Given the description of an element on the screen output the (x, y) to click on. 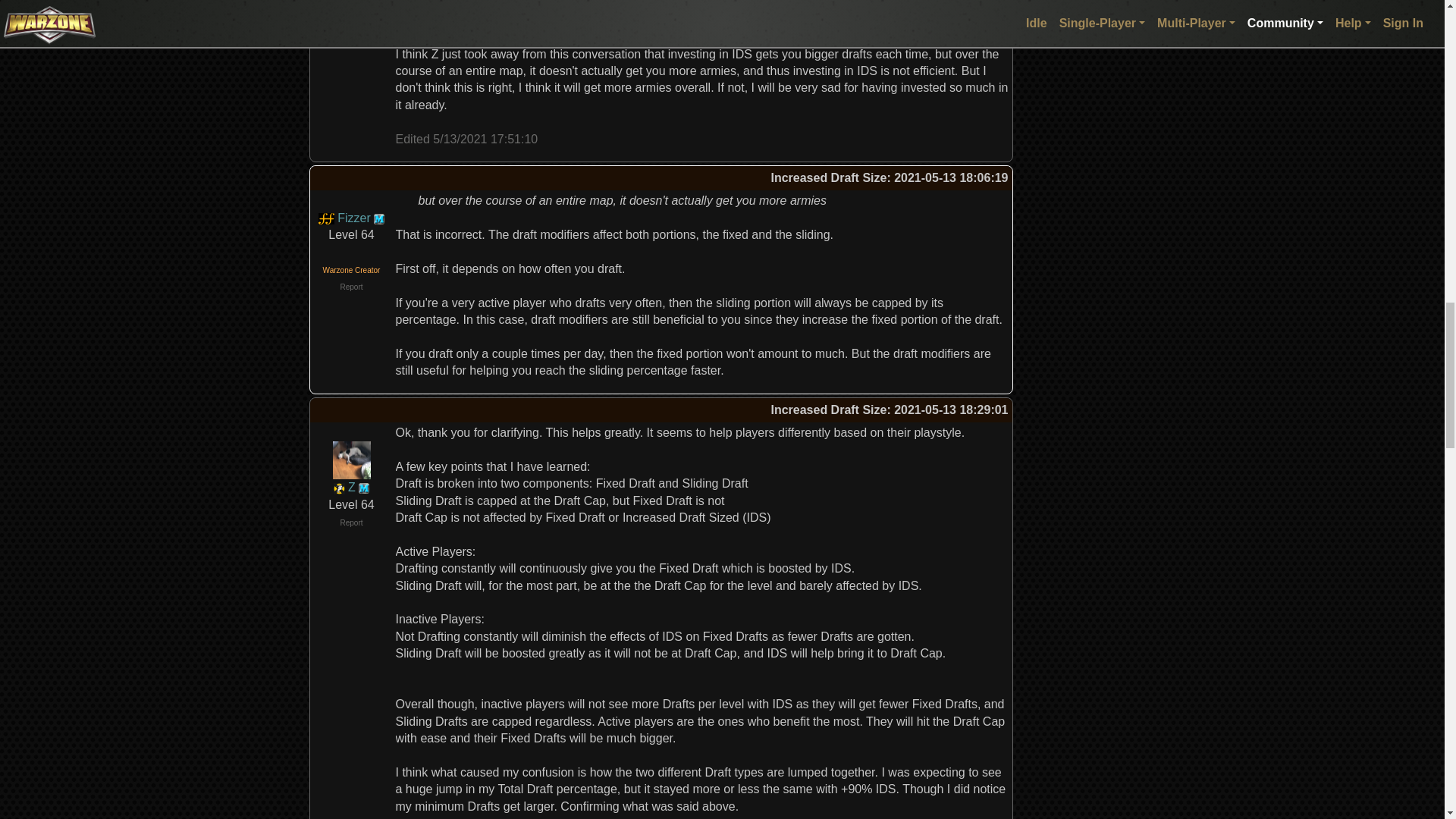
Flunky Fizzers (326, 217)
Warzone Member (379, 218)
